Given the description of an element on the screen output the (x, y) to click on. 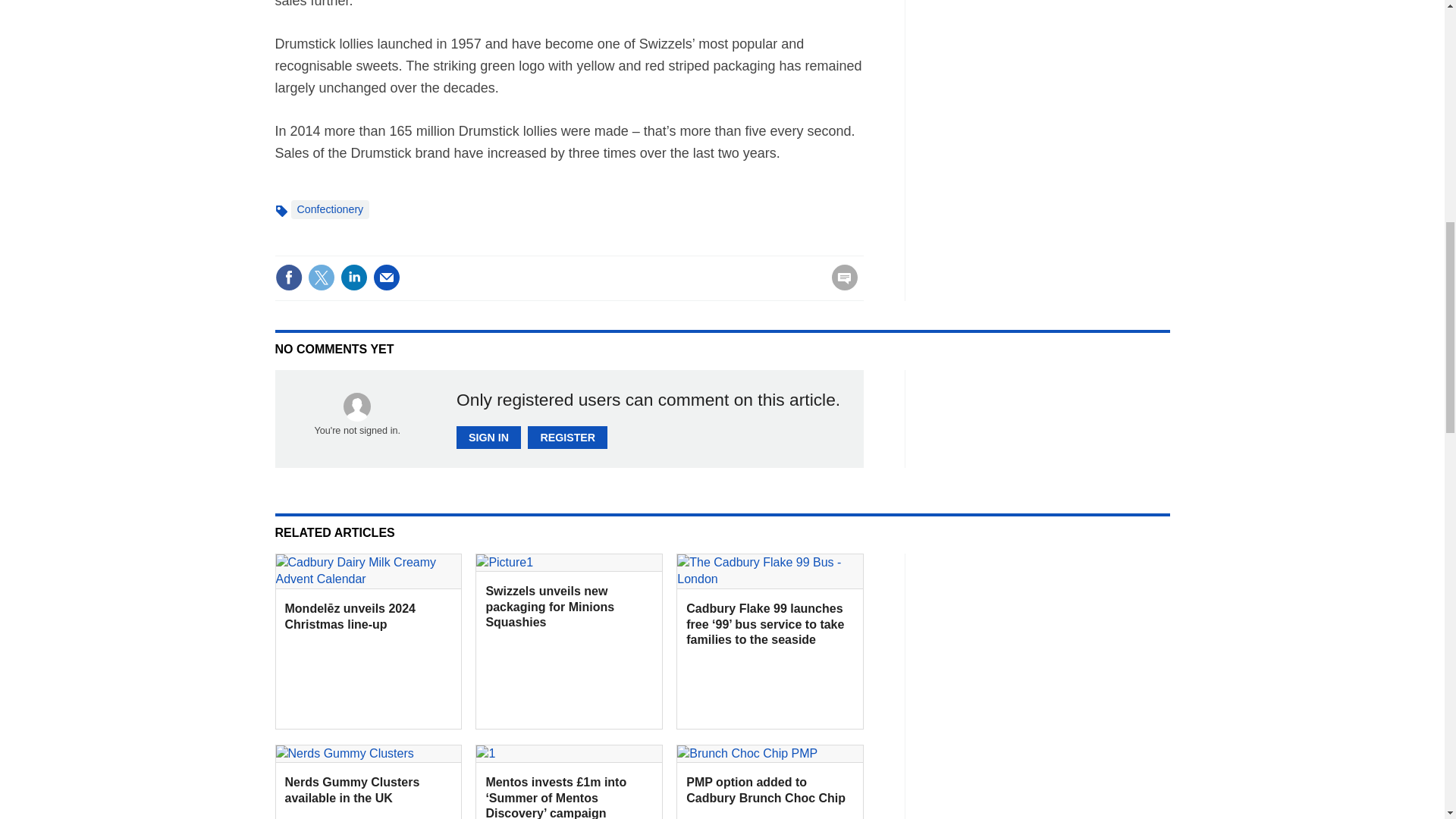
Share this on Twitter (320, 277)
No comments (840, 286)
Email this article (386, 277)
Share this on Linked in (352, 277)
Share this on Facebook (288, 277)
